Given the description of an element on the screen output the (x, y) to click on. 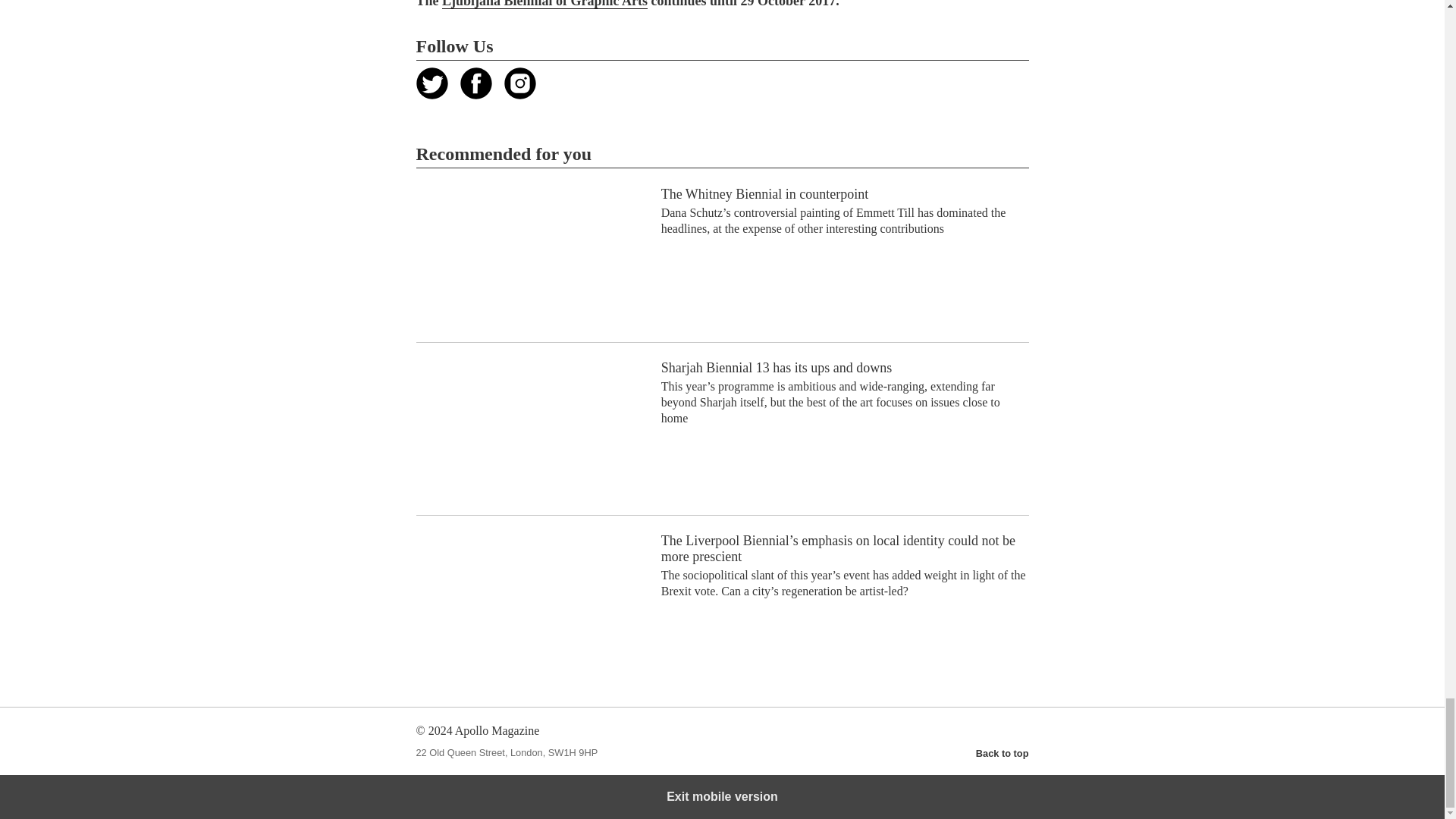
Back to top (1002, 753)
Ljubljana Biennial of Graphic Arts (544, 4)
